Given the description of an element on the screen output the (x, y) to click on. 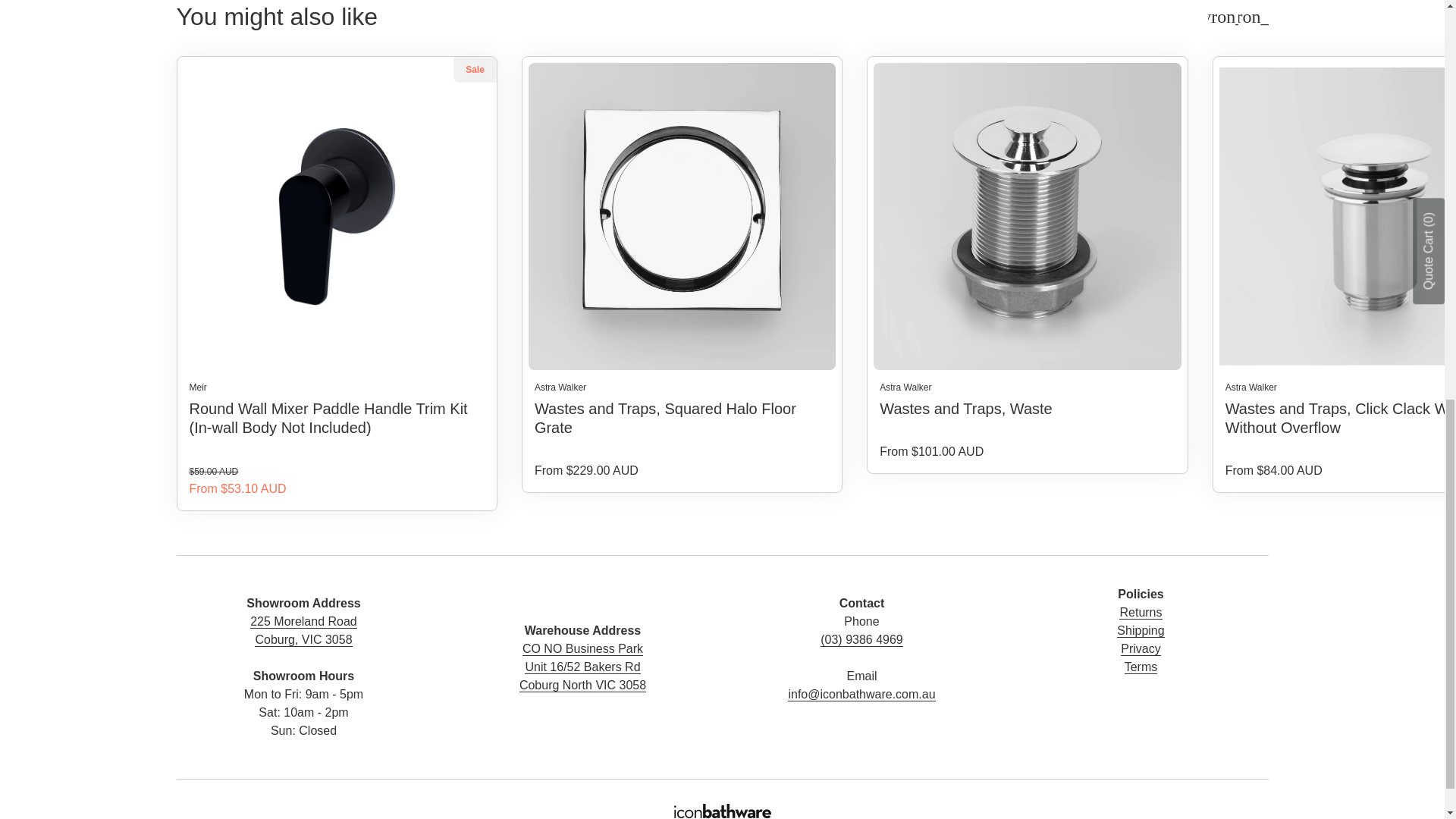
Privacy Policy (1140, 649)
Icon Bathware Showroom (303, 649)
tel:0393864969 (861, 649)
Icon Bathware Warehouse (582, 667)
Shipping Policy (1139, 631)
Refund Policy (1140, 612)
